Given the description of an element on the screen output the (x, y) to click on. 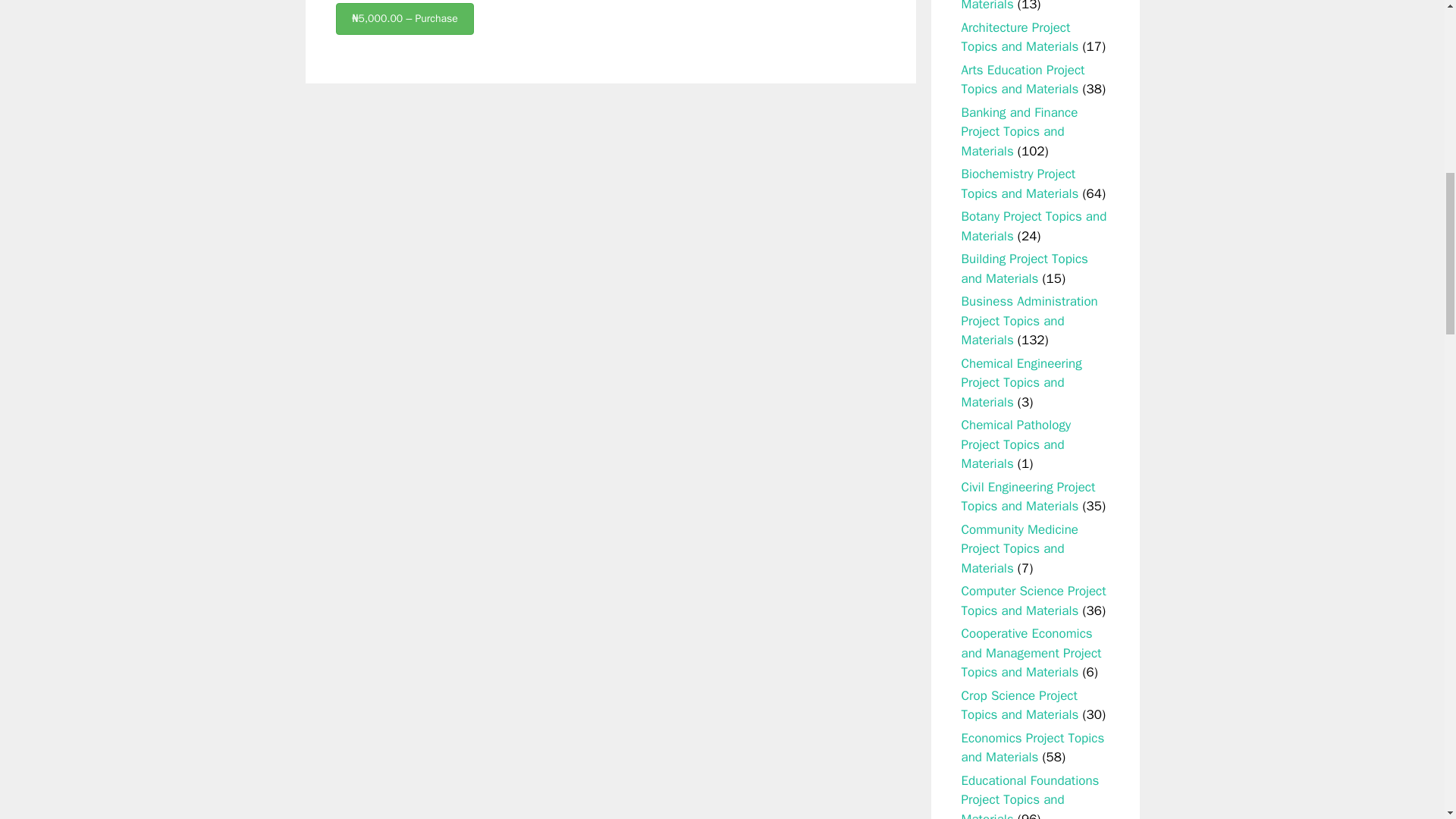
Chemical Pathology Project Topics and Materials (1015, 443)
Crop Science Project Topics and Materials (1019, 705)
Civil Engineering Project Topics and Materials (1028, 497)
Arts Education Project Topics and Materials (1022, 79)
Building Project Topics and Materials (1023, 268)
Community Medicine Project Topics and Materials (1019, 548)
Archaeology and Tourism Project Topics and Materials (1031, 6)
Chemical Engineering Project Topics and Materials (1020, 382)
Botany Project Topics and Materials (1033, 226)
Economics Project Topics and Materials (1032, 747)
Computer Science Project Topics and Materials (1033, 601)
Educational Foundations Project Topics and Materials (1029, 796)
Banking and Finance Project Topics and Materials (1019, 131)
Scroll back to top (1406, 720)
Business Administration Project Topics and Materials (1028, 320)
